Given the description of an element on the screen output the (x, y) to click on. 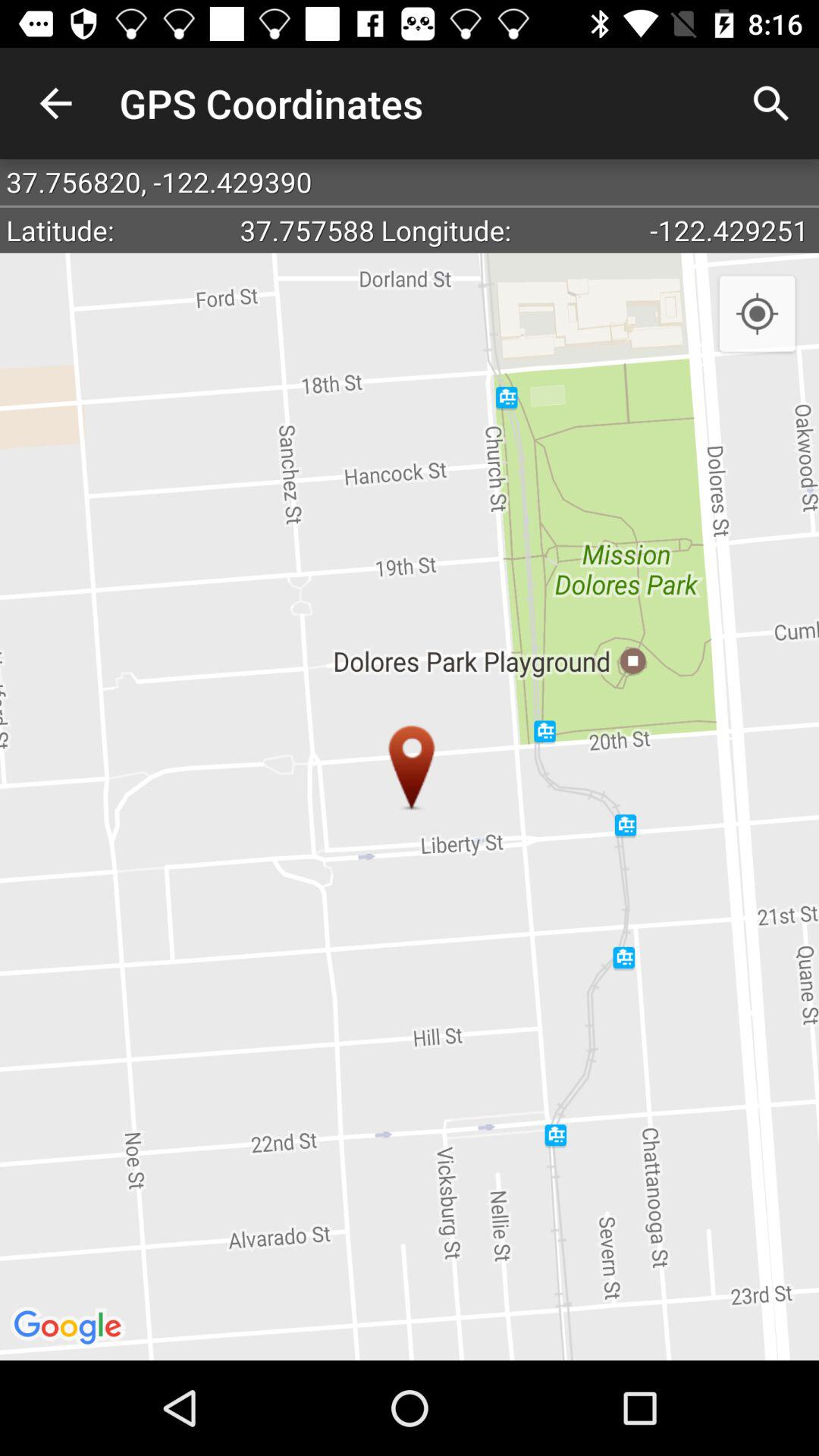
tap item above 37 756820 122 (55, 103)
